Given the description of an element on the screen output the (x, y) to click on. 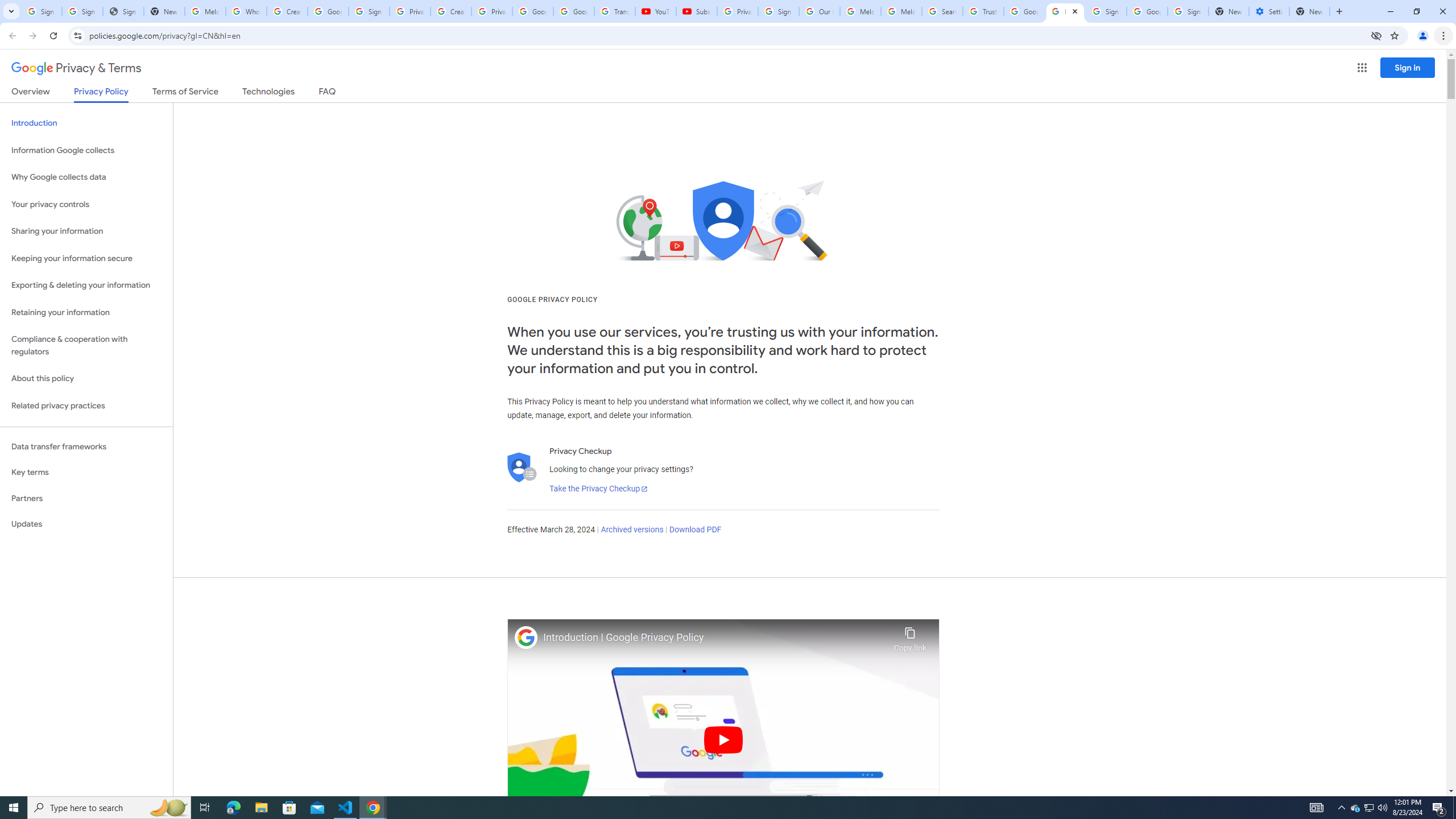
Settings - Addresses and more (1268, 11)
Sign in - Google Accounts (368, 11)
Sign in - Google Accounts (1105, 11)
New Tab (1309, 11)
